Given the description of an element on the screen output the (x, y) to click on. 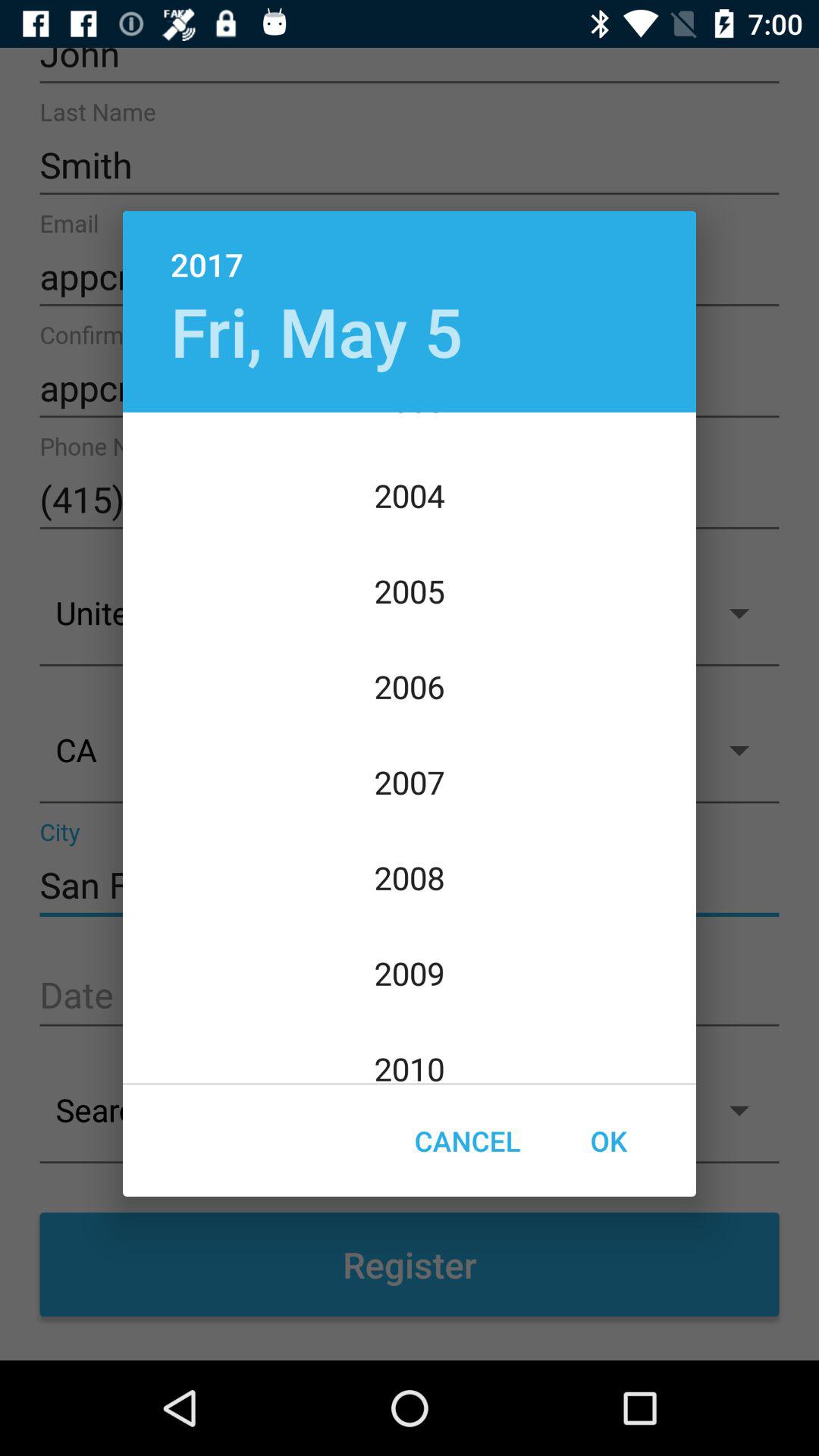
flip until ok (608, 1140)
